Given the description of an element on the screen output the (x, y) to click on. 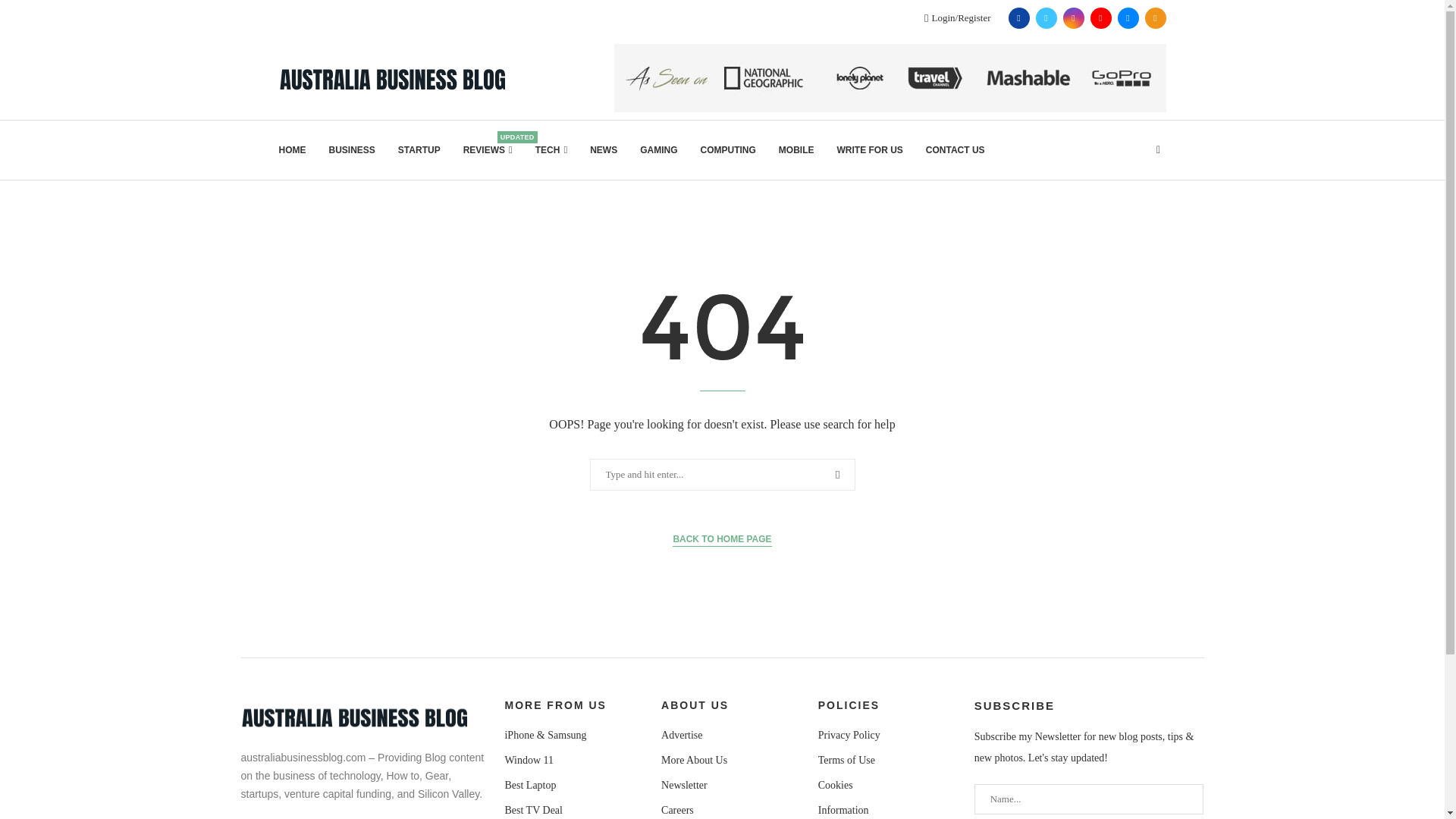
CONTACT US (955, 149)
COMPUTING (727, 149)
BUSINESS (352, 149)
STARTUP (419, 149)
WRITE FOR US (869, 149)
